Given the description of an element on the screen output the (x, y) to click on. 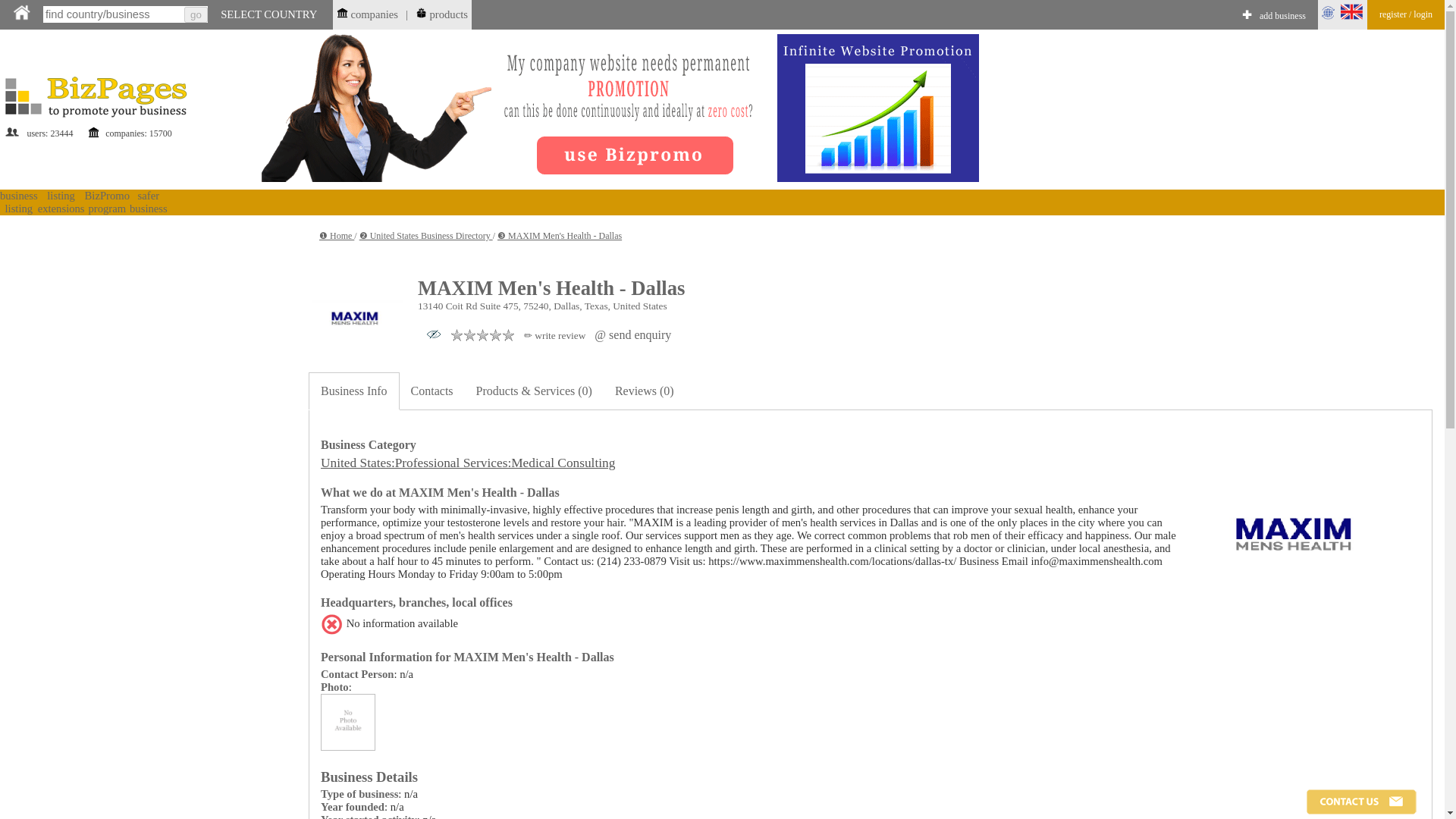
listing extensions (60, 201)
add business (1282, 16)
SELECT COUNTRY (269, 14)
business listing (18, 201)
home (20, 12)
BizPromo program (106, 201)
go (196, 14)
safer business (148, 201)
